Given the description of an element on the screen output the (x, y) to click on. 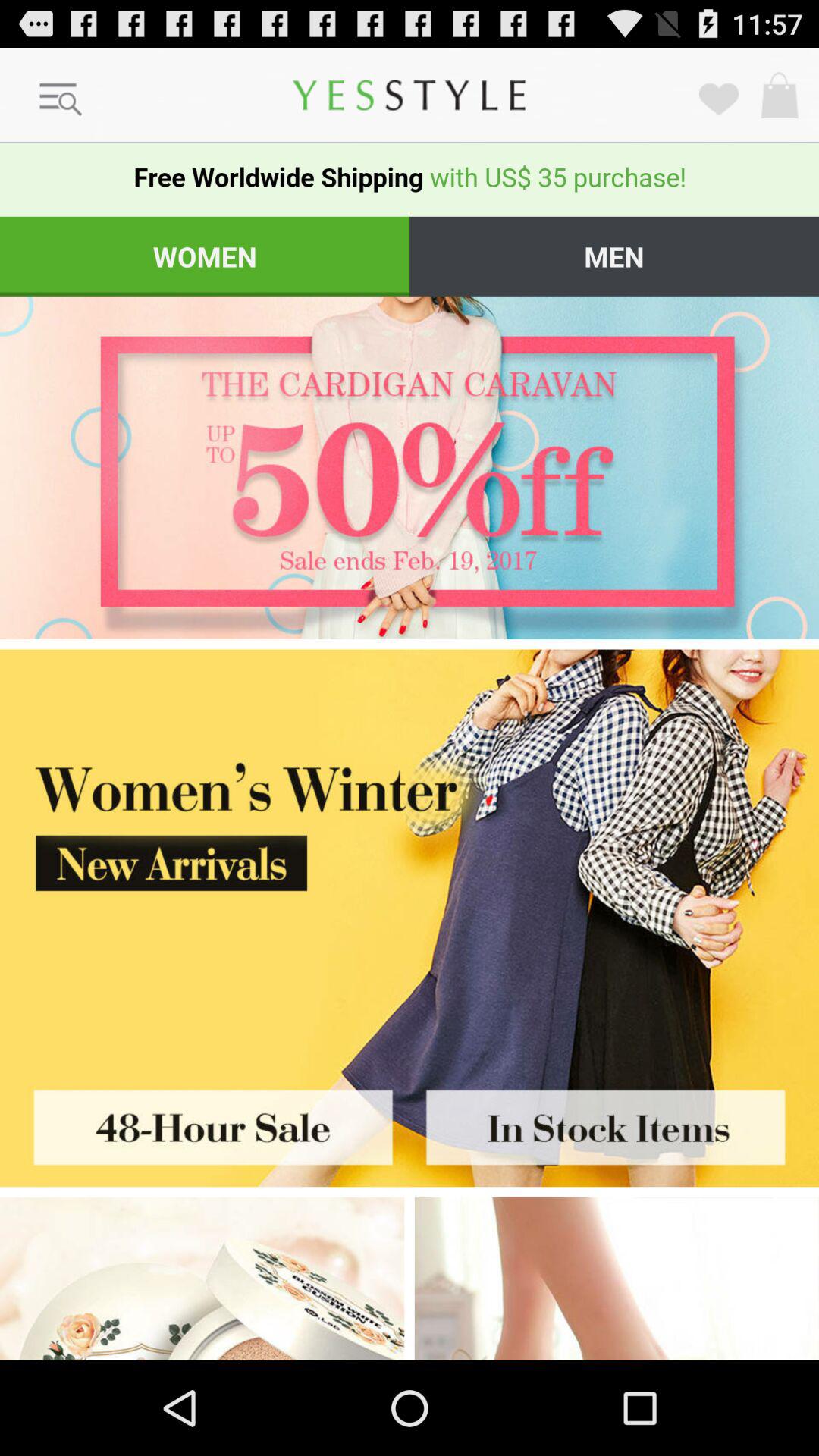
picture page (614, 1122)
